Given the description of an element on the screen output the (x, y) to click on. 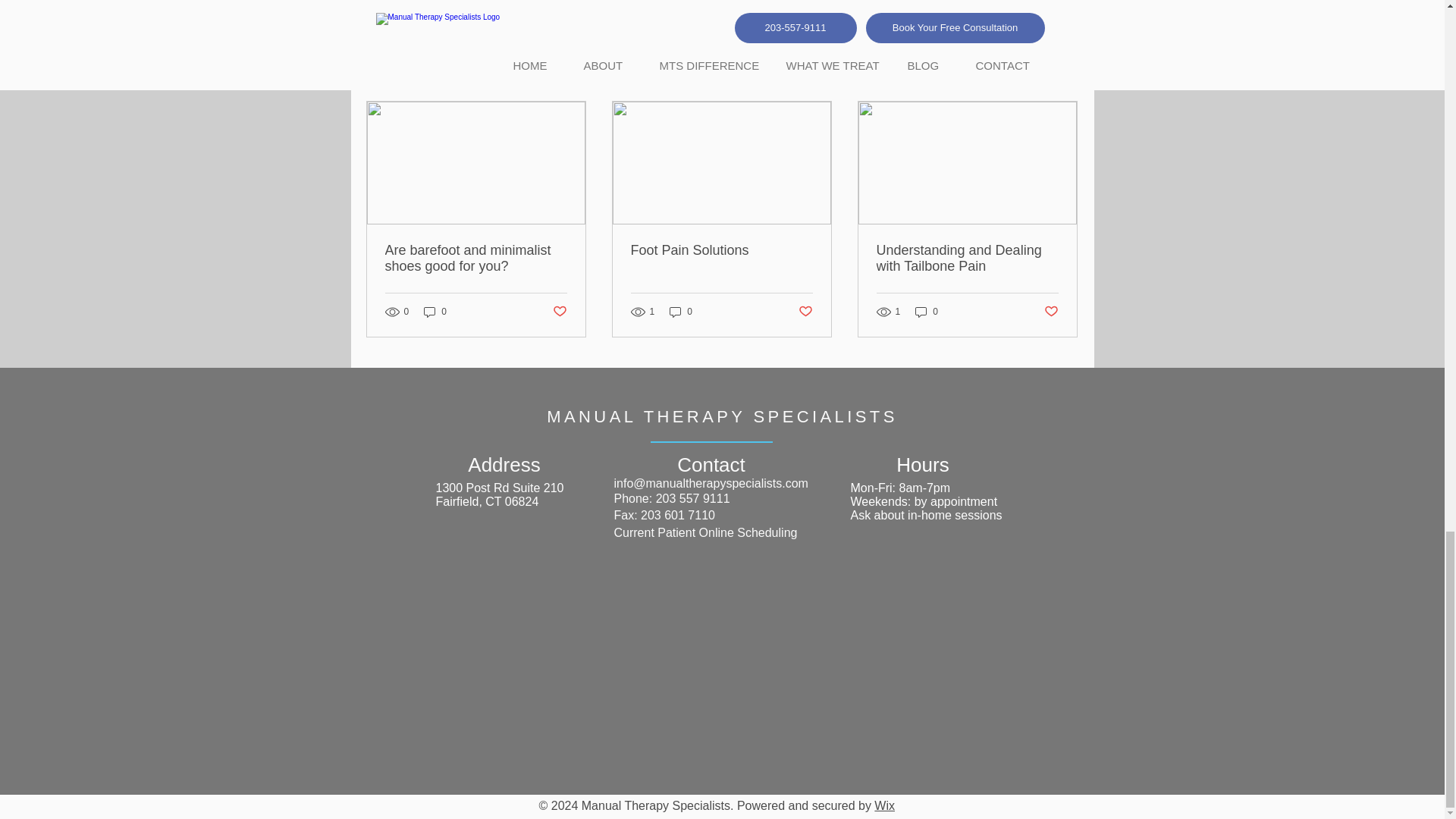
0 (681, 311)
Current Patient Online Scheduling (705, 532)
0 (926, 311)
Foot Pain Solutions (721, 250)
Phone: 203 557 9111 (672, 498)
Understanding and Dealing with Tailbone Pain (967, 258)
Wix (885, 805)
Are barefoot and minimalist shoes good for you? (476, 258)
Post not marked as liked (558, 311)
See All (1061, 74)
